Given the description of an element on the screen output the (x, y) to click on. 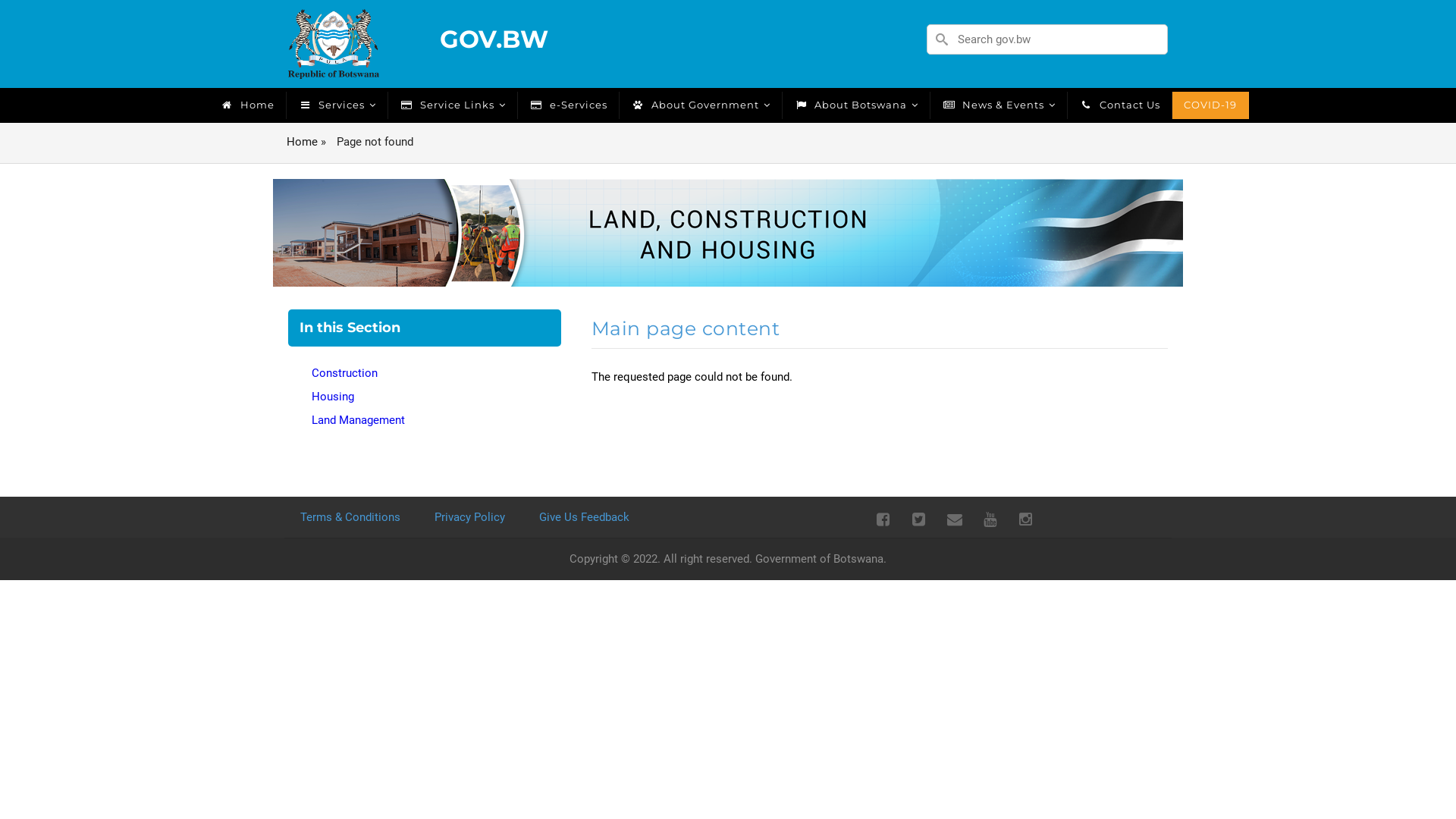
Construction Element type: text (424, 373)
Land Management Element type: text (424, 420)
Skip to main content Element type: text (0, 0)
Search Element type: text (1196, 37)
Services Element type: text (337, 104)
Housing Element type: text (424, 396)
About Botswana Element type: text (856, 104)
Terms & Conditions Element type: text (353, 517)
About Government Element type: text (699, 104)
Privacy Policy Element type: text (473, 517)
Home Element type: hover (333, 43)
Enter the terms you wish to search for. Element type: hover (1046, 39)
Service Links Element type: text (452, 104)
Contact Us Element type: text (1119, 104)
Home Element type: text (246, 104)
Home Element type: text (301, 141)
e-Services Element type: text (567, 104)
News & Events Element type: text (997, 104)
COVID-19 Element type: text (1210, 104)
Give Us Feedback Element type: text (587, 517)
